Given the description of an element on the screen output the (x, y) to click on. 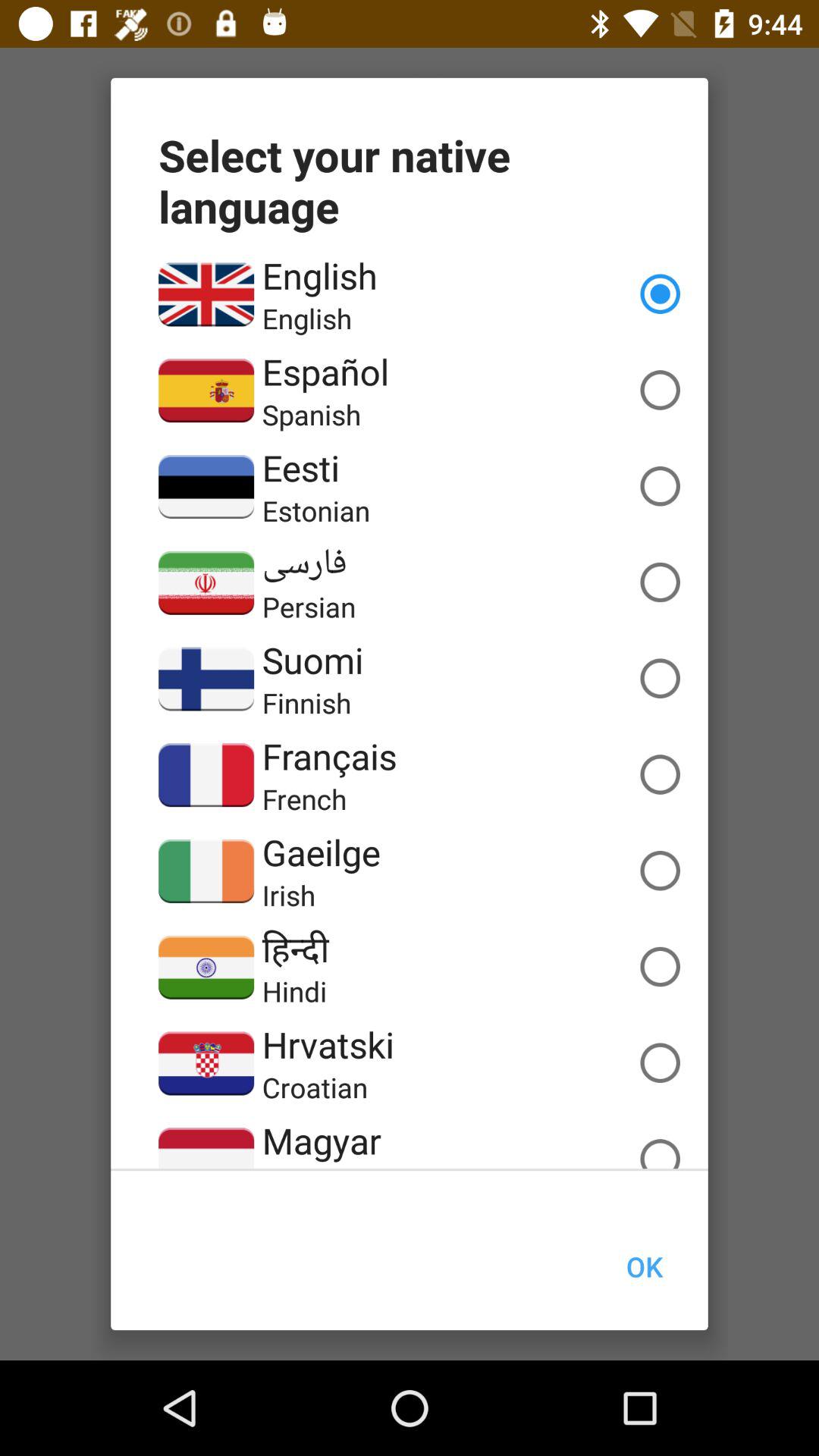
swipe to the estonian icon (316, 510)
